Given the description of an element on the screen output the (x, y) to click on. 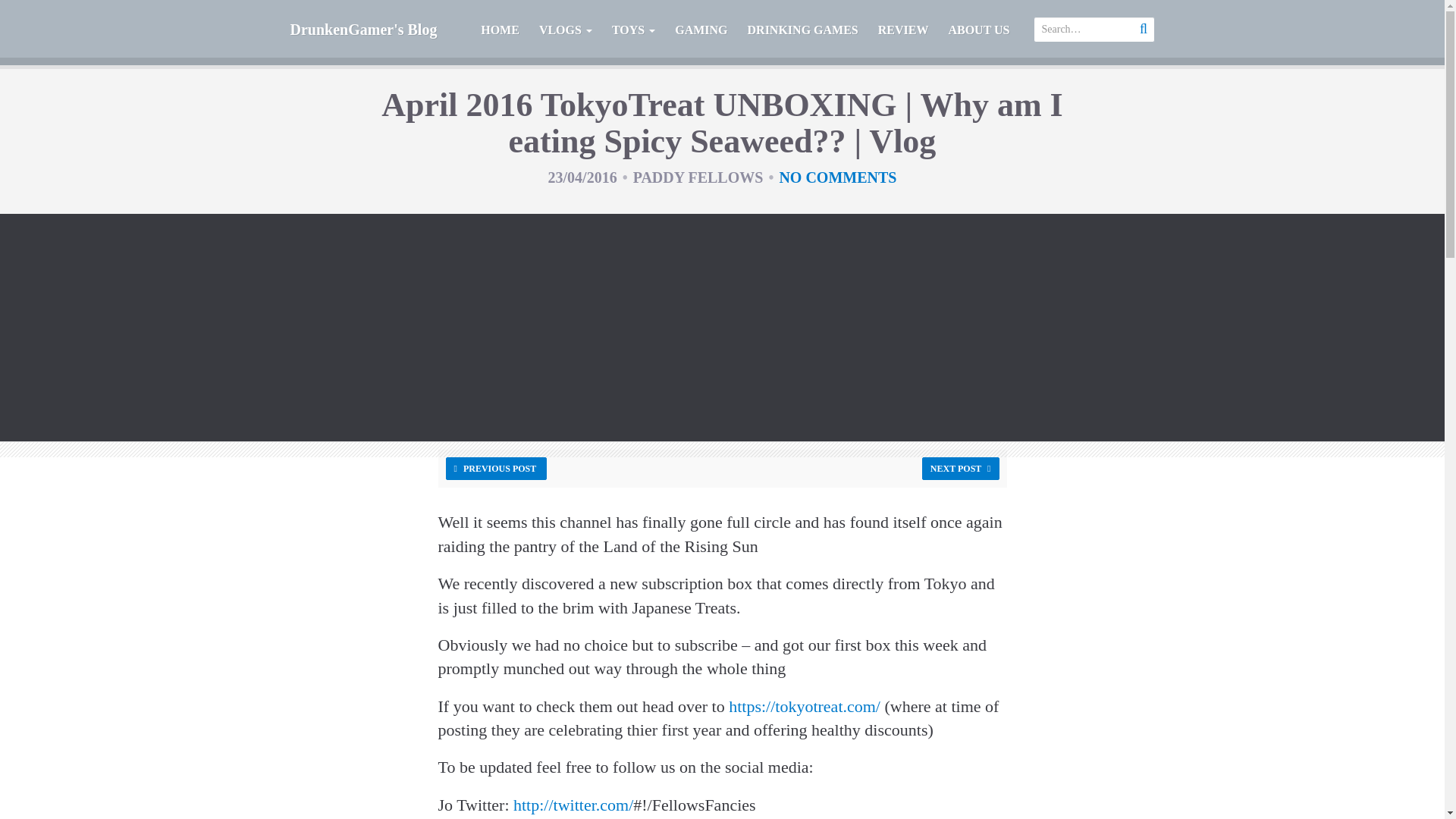
TOYS (633, 32)
DrunkenGamer's Blog (363, 28)
PREVIOUS POST (496, 468)
ABOUT US (978, 32)
REVIEW (903, 32)
VLOGS (565, 32)
HOME (499, 32)
NEXT POST (959, 468)
NO COMMENTS (837, 176)
